Given the description of an element on the screen output the (x, y) to click on. 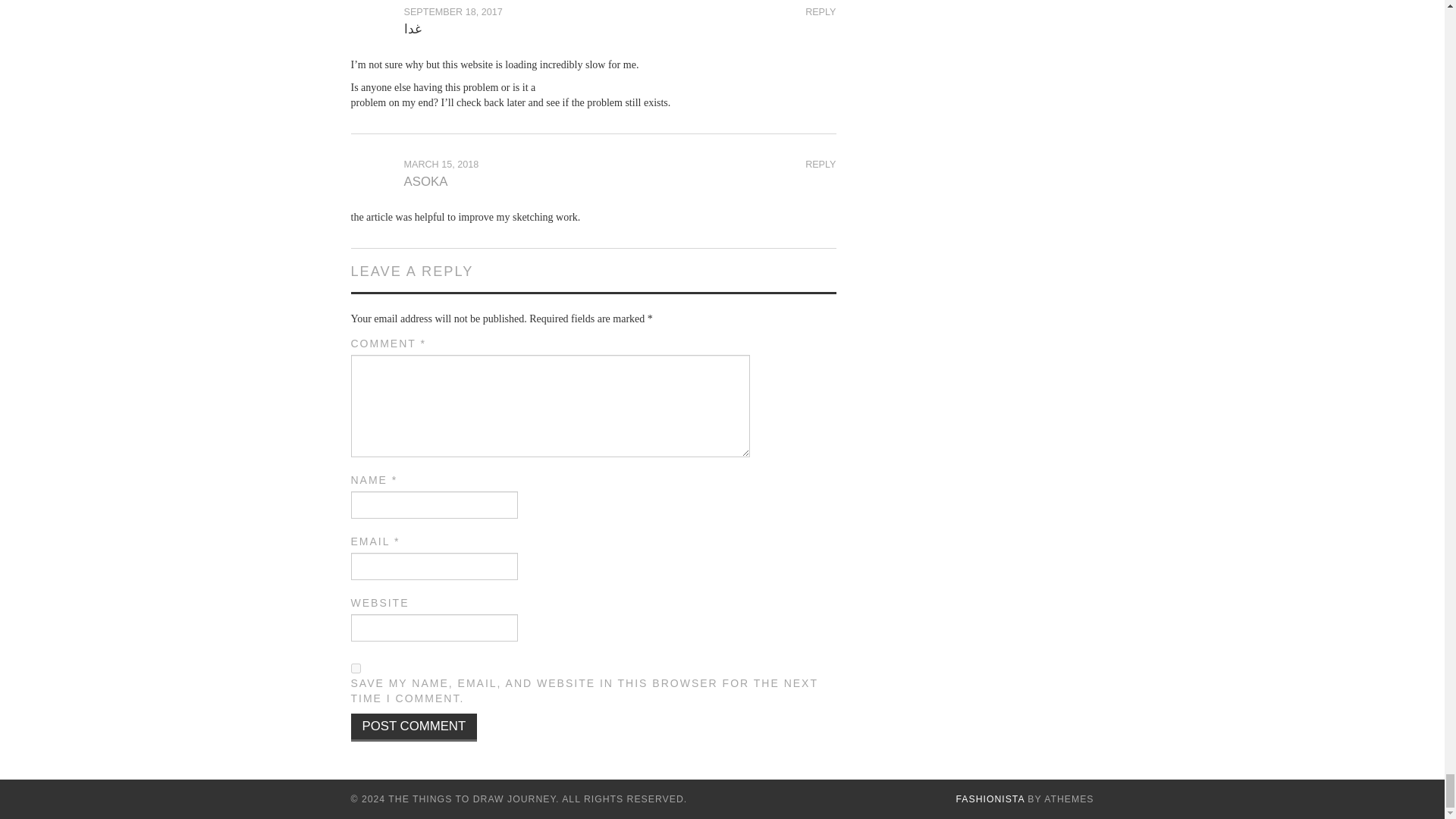
yes (354, 668)
Post Comment (413, 727)
